Given the description of an element on the screen output the (x, y) to click on. 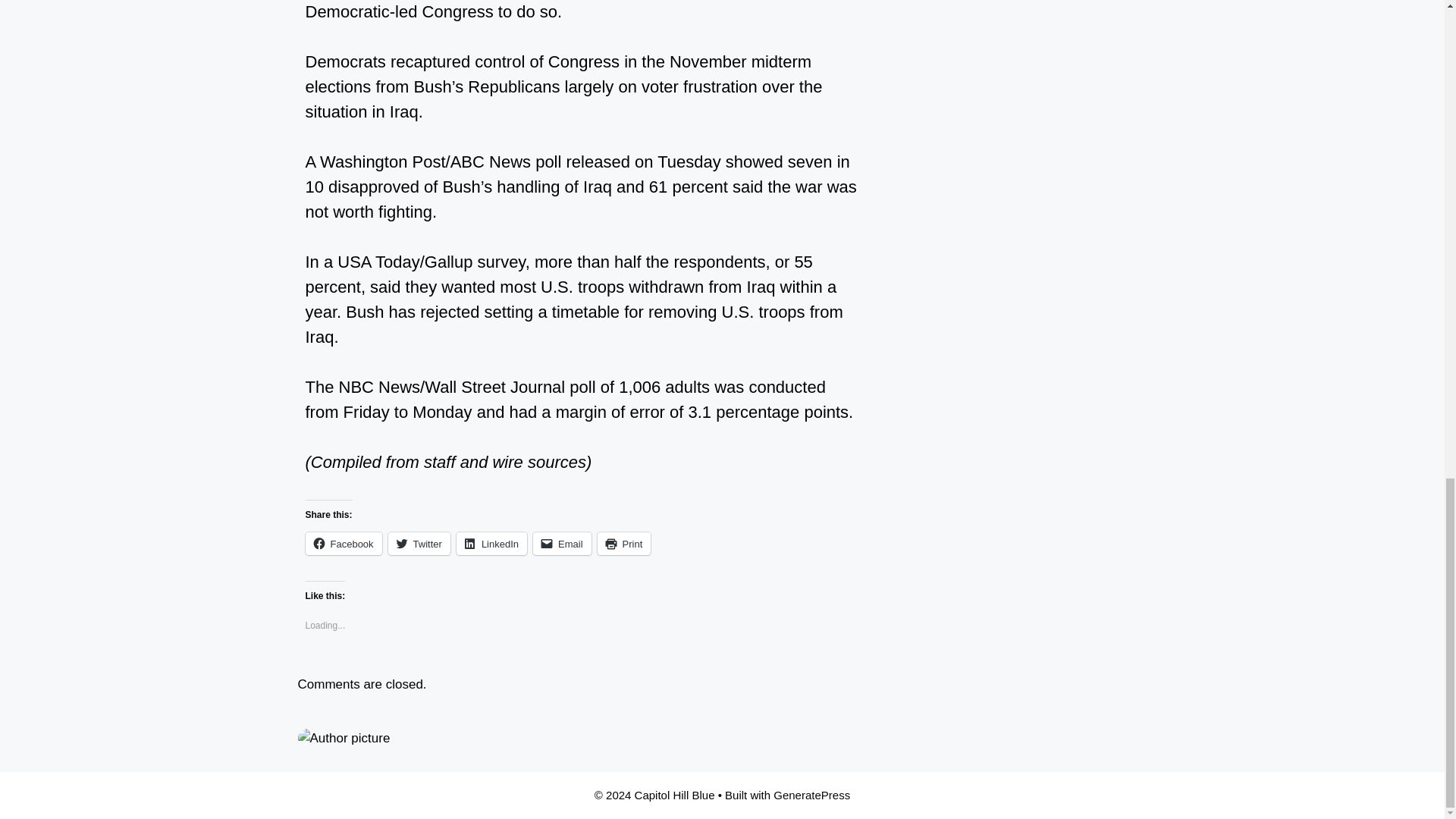
Email (561, 543)
Print (623, 543)
Click to print (623, 543)
Twitter (418, 543)
Click to share on Twitter (418, 543)
LinkedIn (492, 543)
Click to share on LinkedIn (492, 543)
GeneratePress (811, 794)
Click to email a link to a friend (561, 543)
Facebook (342, 543)
Click to share on Facebook (342, 543)
